Given the description of an element on the screen output the (x, y) to click on. 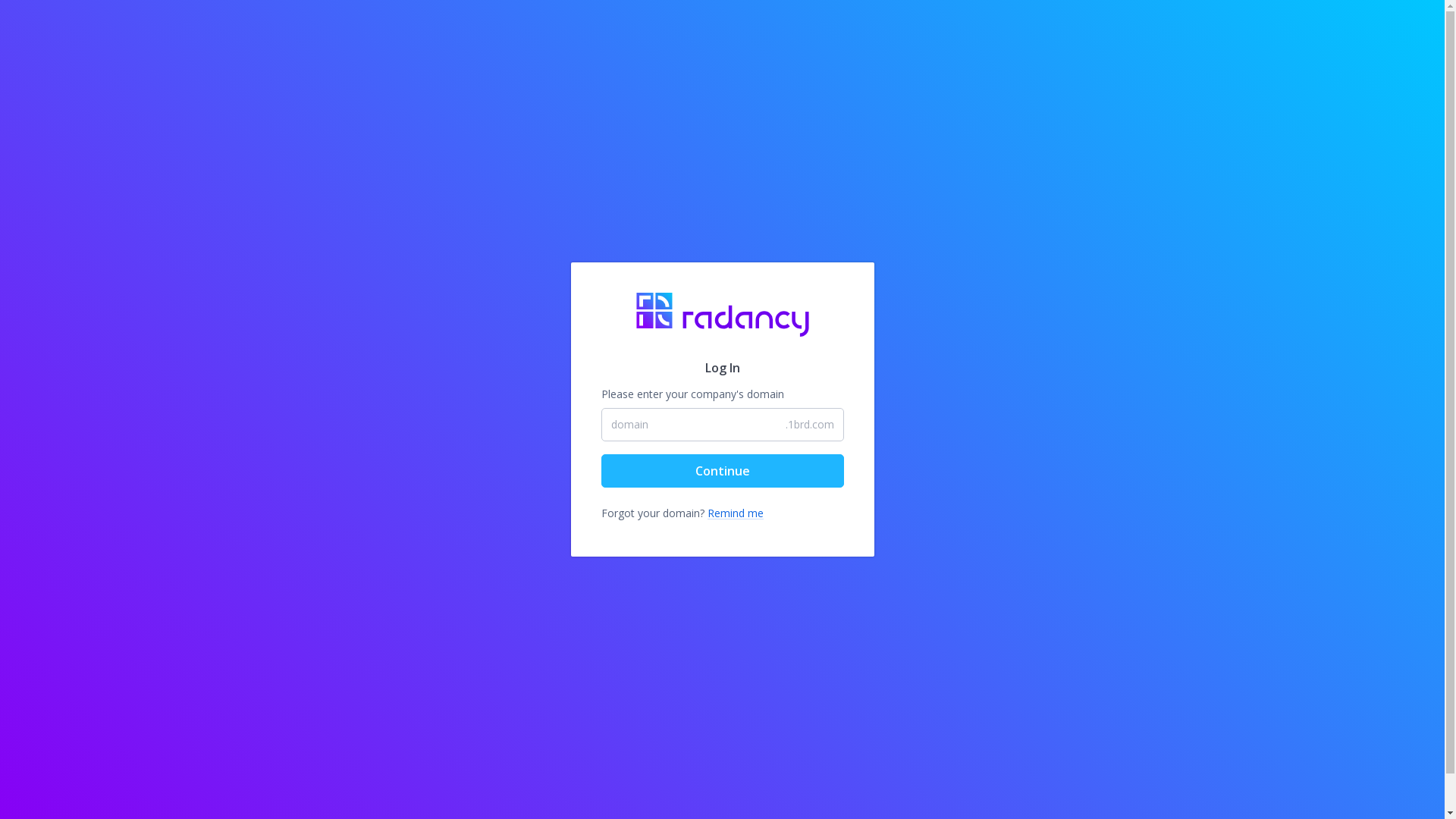
Remind me Element type: text (734, 512)
Continue Element type: text (721, 470)
